Given the description of an element on the screen output the (x, y) to click on. 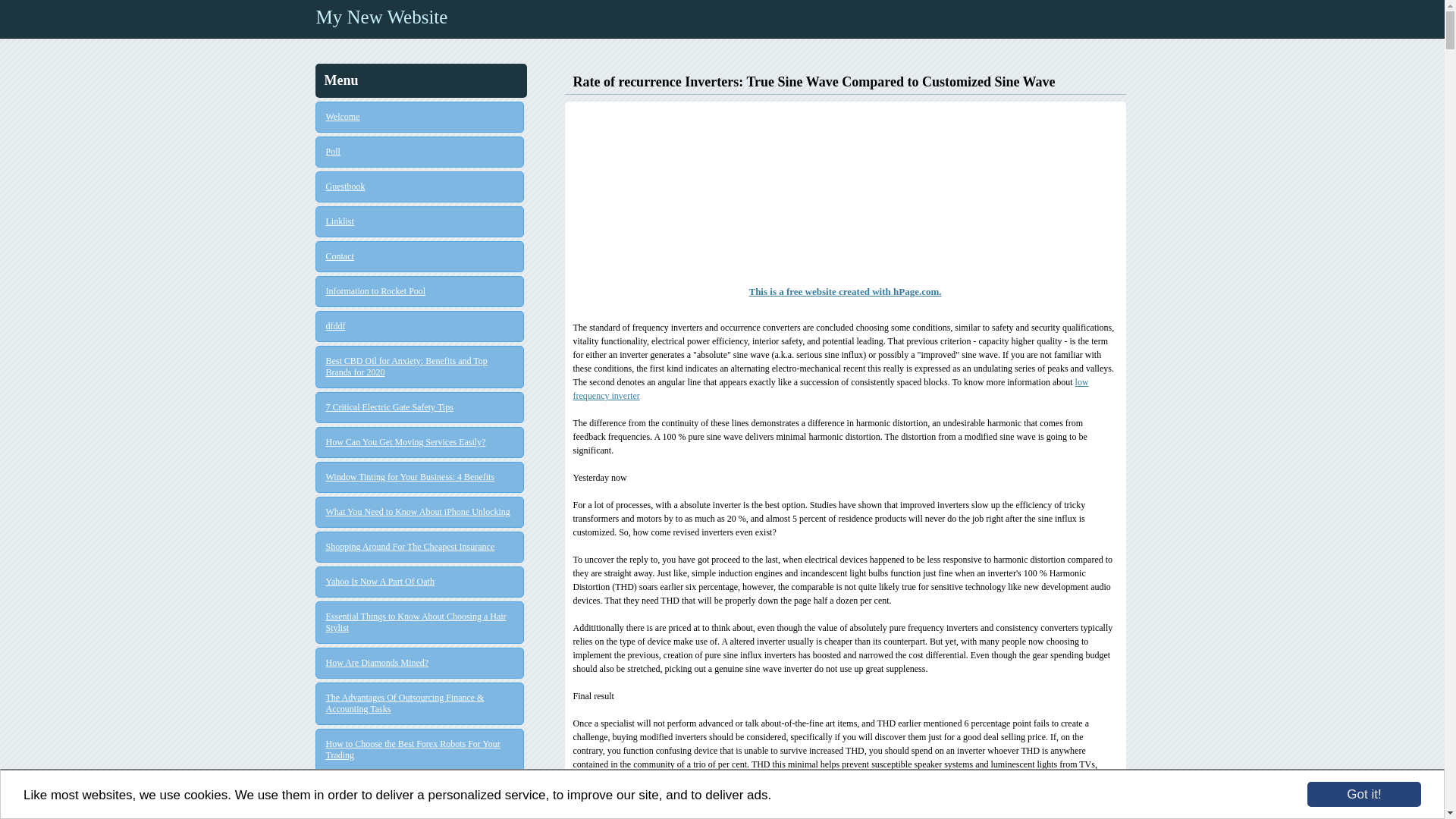
Contact (419, 256)
Legal Translation Service Guide (419, 790)
Guestbook (419, 186)
What You Need to Know About iPhone Unlocking (419, 511)
Best CBD Oil for Anxiety: Benefits and Top Brands for 2020 (419, 366)
Essential Things to Know About Choosing a Hair Stylist (419, 621)
Shopping Around For The Cheapest Insurance (419, 546)
Welcome (419, 116)
Window Tinting for Your Business: 4 Benefits (419, 477)
Linklist (419, 221)
